Given the description of an element on the screen output the (x, y) to click on. 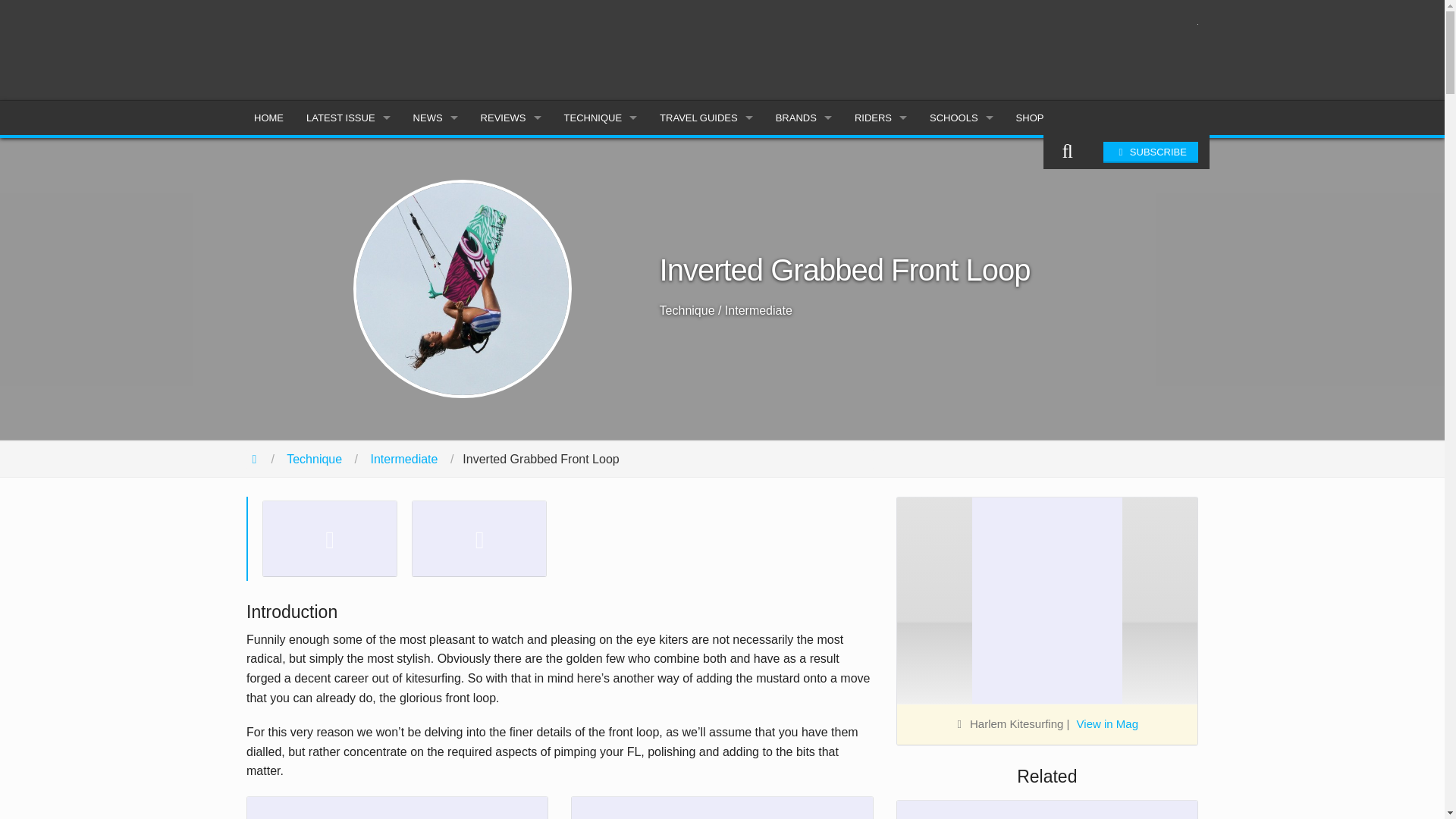
ISSUE 105 (348, 154)
HOME (269, 117)
HARNESSES (510, 257)
FEATURES (434, 188)
BEGINNER (601, 154)
BACK ISSUES (348, 223)
TECHNIQUE (601, 117)
TRAVEL GUIDES (705, 117)
READERS GALLERY (434, 325)
HYDROFOILS (510, 223)
INTERMEDIATE (601, 188)
AWARDS (434, 291)
ARTICLES (348, 188)
NEWS (434, 117)
REVIEWS (510, 117)
